Given the description of an element on the screen output the (x, y) to click on. 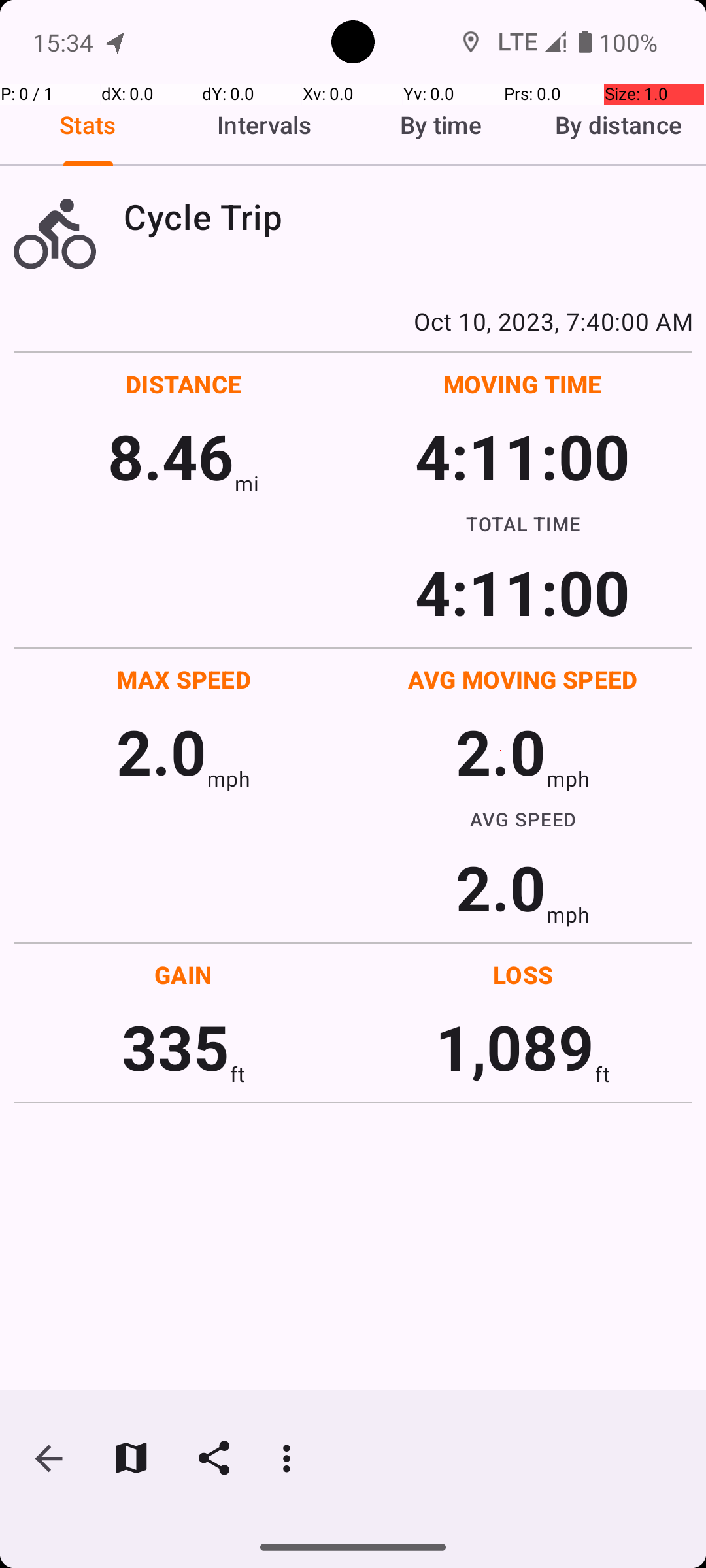
Cycle Trip Element type: android.widget.TextView (407, 216)
Oct 10, 2023, 7:40:00 AM Element type: android.widget.TextView (352, 320)
8.46 Element type: android.widget.TextView (170, 455)
4:11:00 Element type: android.widget.TextView (522, 455)
2.0 Element type: android.widget.TextView (161, 750)
335 Element type: android.widget.TextView (175, 1045)
1,089 Element type: android.widget.TextView (514, 1045)
OpenTracks notification:  Element type: android.widget.ImageView (115, 41)
